Given the description of an element on the screen output the (x, y) to click on. 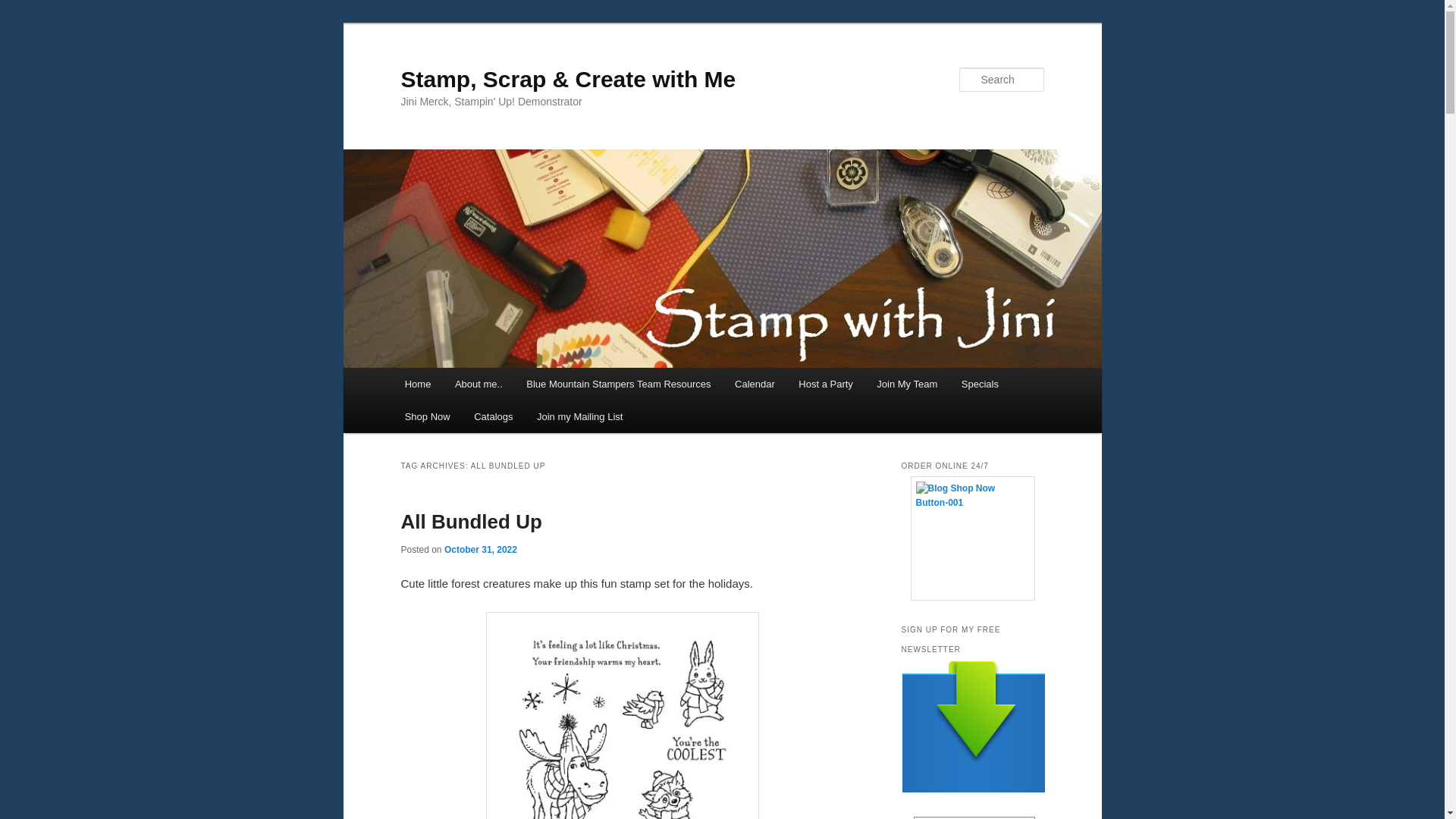
Home (417, 383)
October 31, 2022 (480, 549)
Join My Team (906, 383)
Shop Now (427, 416)
Join my Mailing List (579, 416)
Calendar (754, 383)
Blue Mountain Stampers Team Resources (617, 383)
Specials (979, 383)
Host a Party (825, 383)
Search (24, 8)
About me.. (477, 383)
All Bundled Up (470, 521)
Catalogs (492, 416)
10:21 am (480, 549)
